Given the description of an element on the screen output the (x, y) to click on. 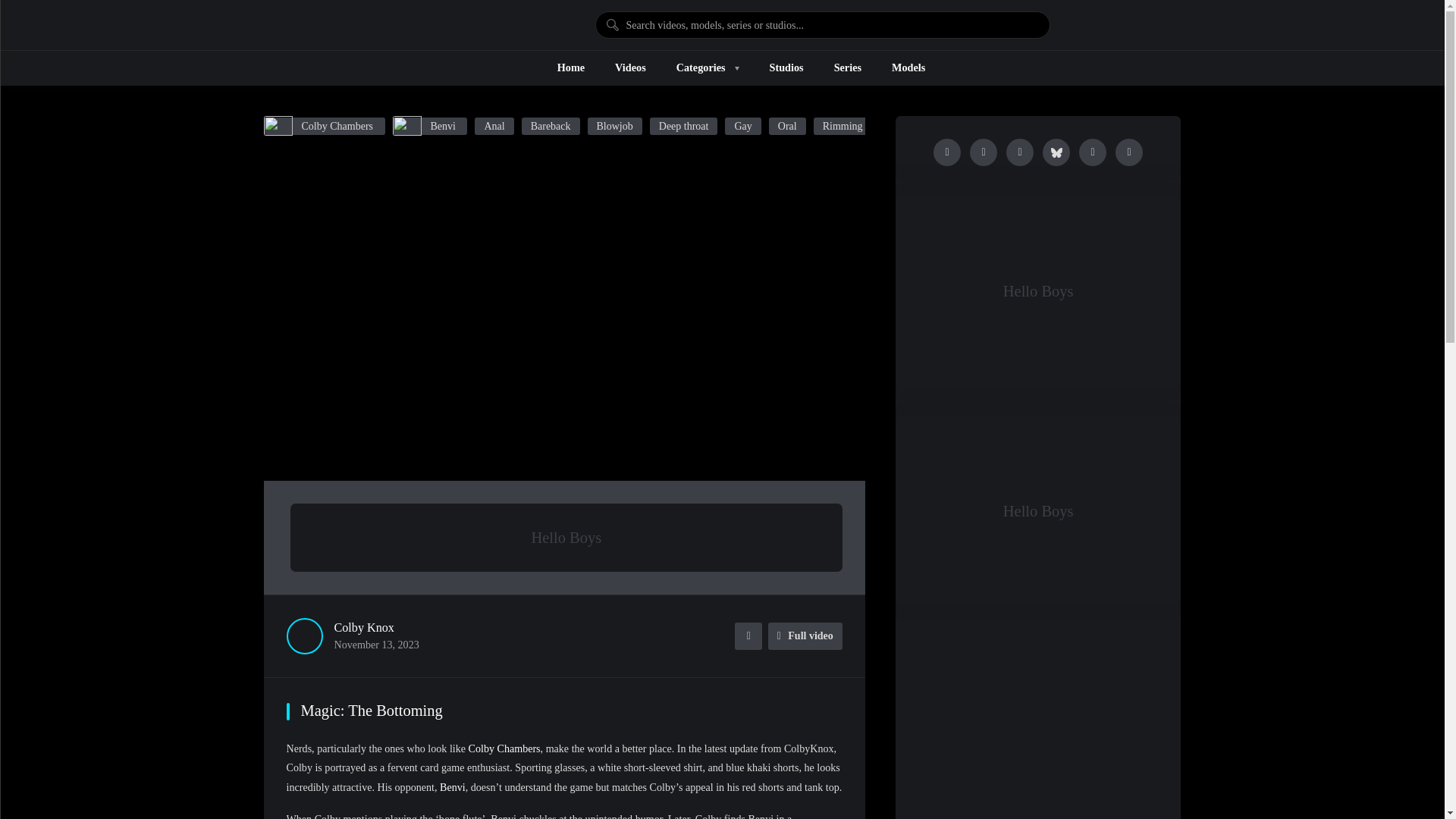
Models (907, 67)
Videos (630, 67)
Studios (786, 67)
Categories (708, 67)
Hello Boys (352, 25)
